Given the description of an element on the screen output the (x, y) to click on. 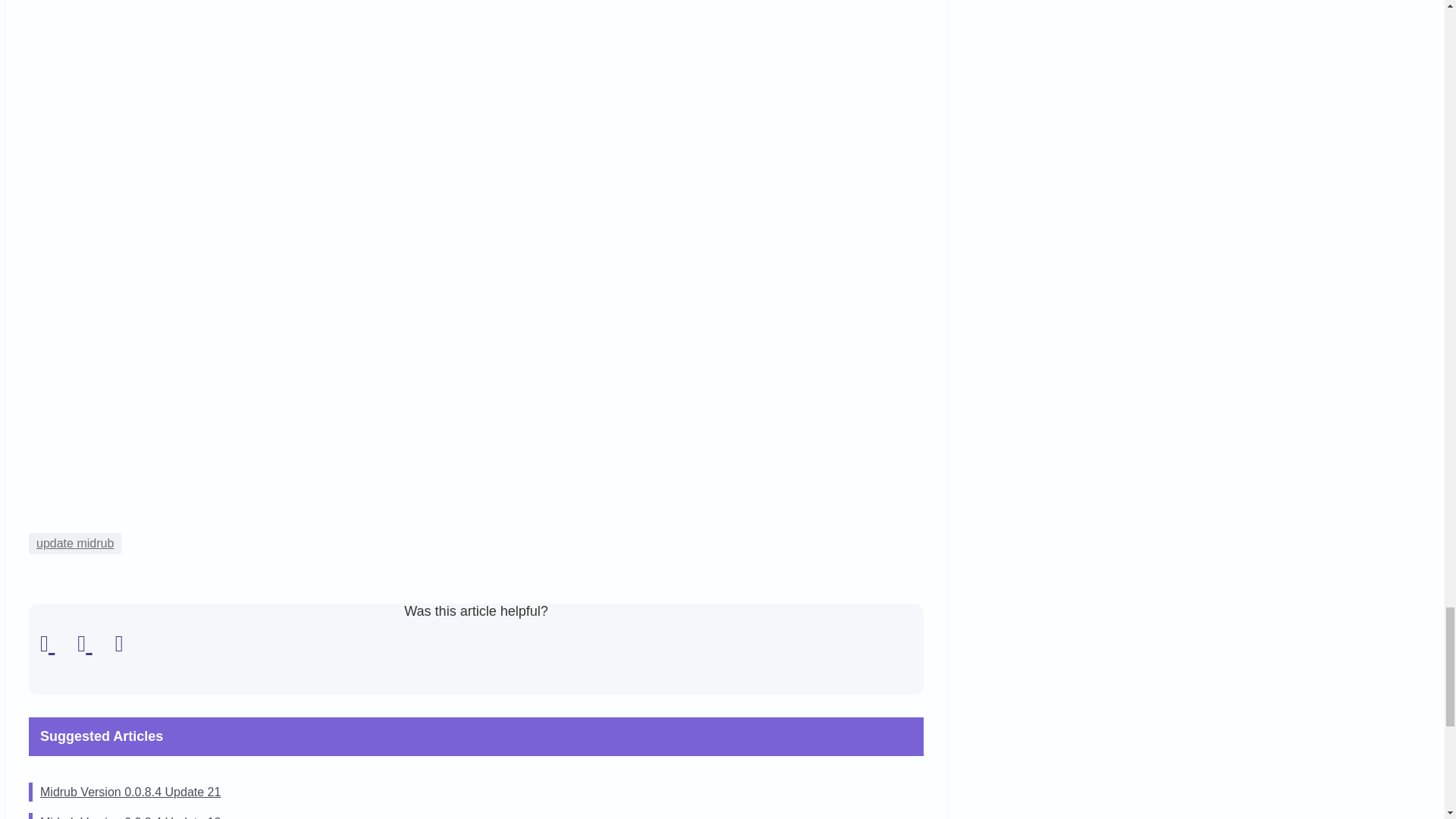
Midrub Version 0.0.8.4 Update 18 (130, 817)
update midrub (74, 543)
Midrub Version 0.0.8.4 Update 21 (130, 791)
